Given the description of an element on the screen output the (x, y) to click on. 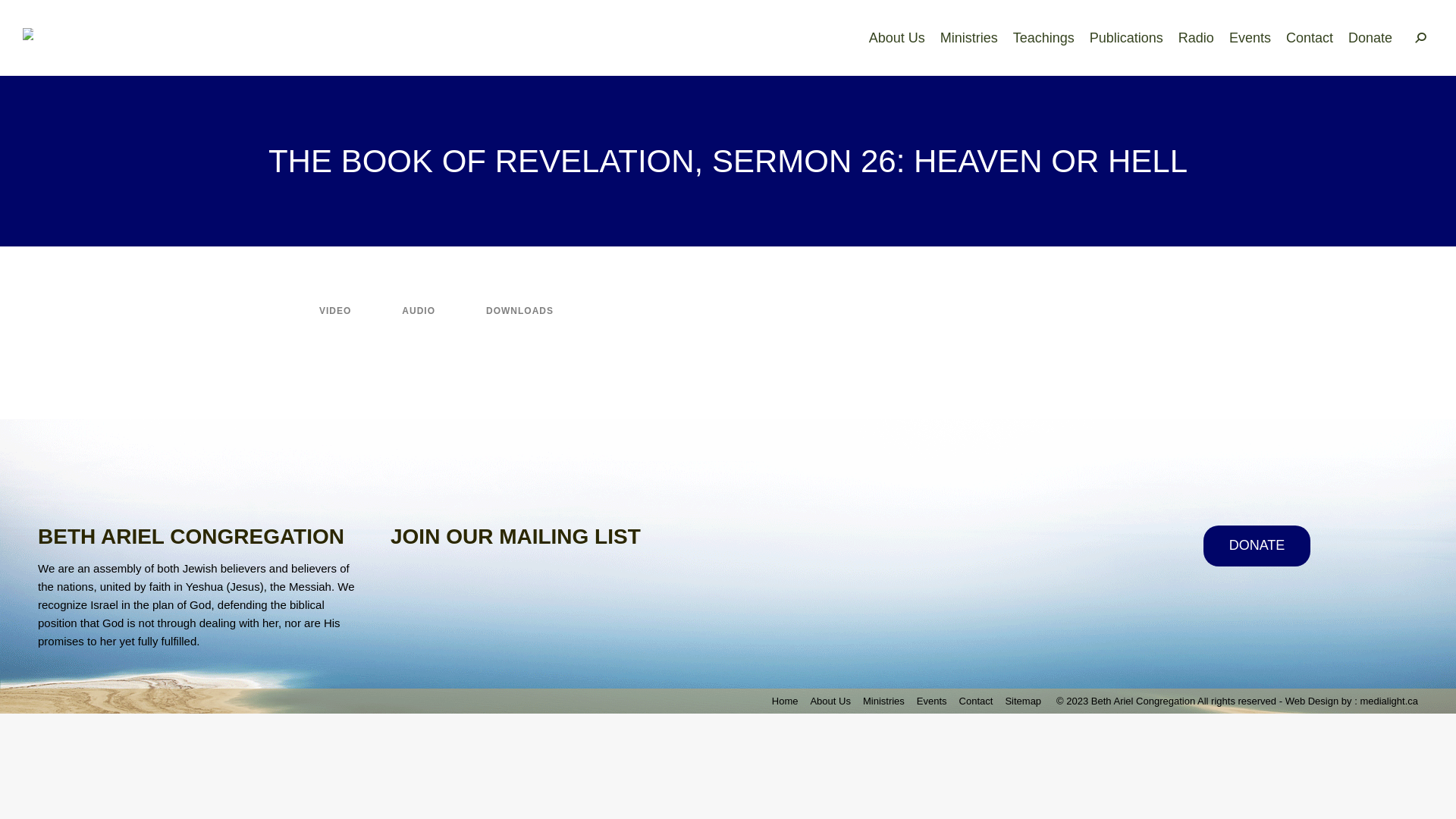
Home Element type: text (784, 700)
About Us Element type: text (829, 700)
Publications Element type: text (1126, 37)
Contact Element type: text (976, 700)
DONATE Element type: text (1257, 545)
Ministries Element type: text (883, 700)
Teachings Element type: text (1043, 37)
About Us Element type: text (897, 37)
Contact Element type: text (1309, 37)
Events Element type: text (1249, 37)
Go! Element type: text (27, 18)
Donate Element type: text (1370, 37)
Events Element type: text (931, 700)
Radio Element type: text (1196, 37)
medialight.ca Element type: text (1388, 700)
Sitemap Element type: text (1022, 700)
Ministries Element type: text (968, 37)
